Given the description of an element on the screen output the (x, y) to click on. 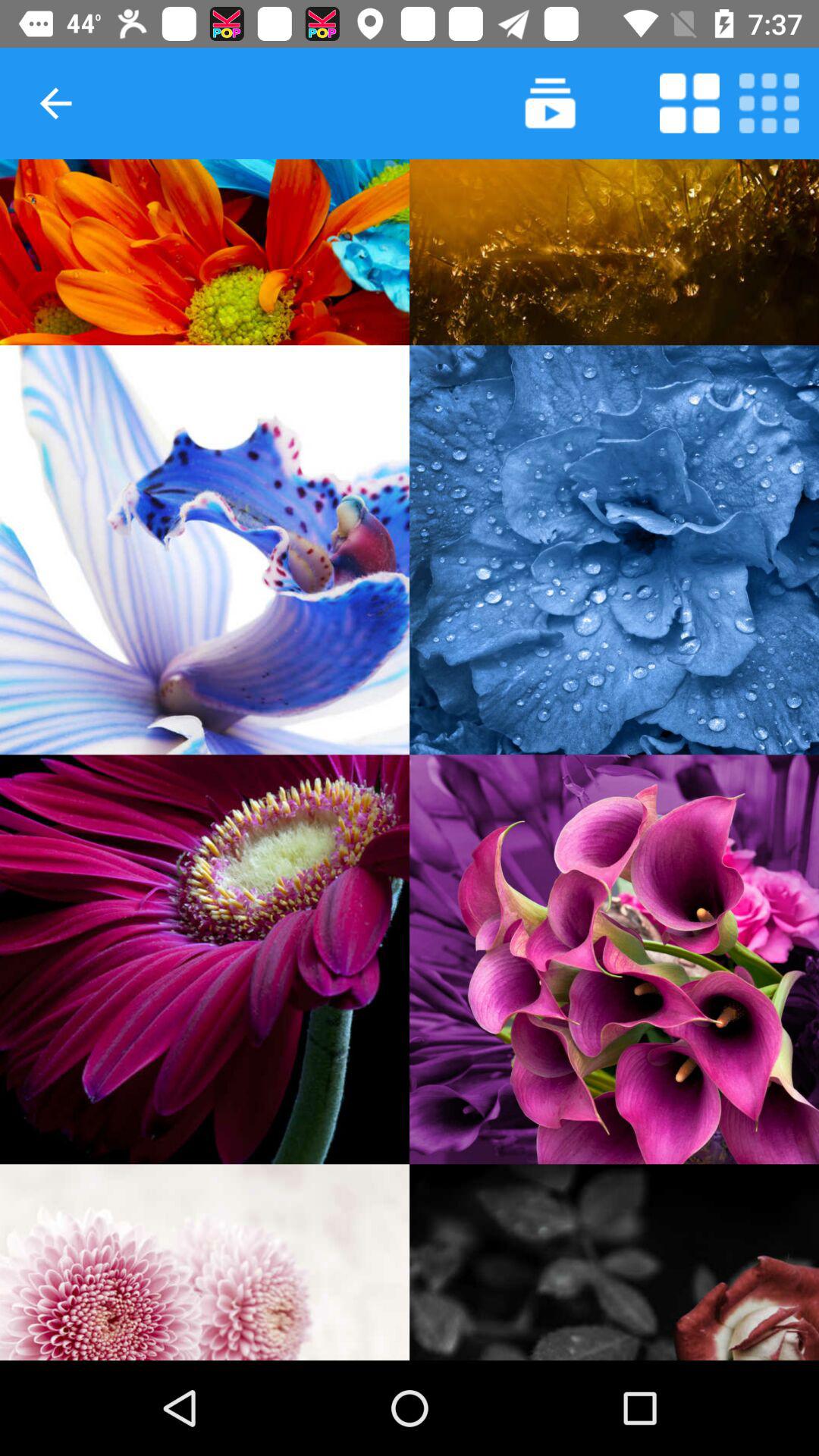
extend screen (689, 103)
